Given the description of an element on the screen output the (x, y) to click on. 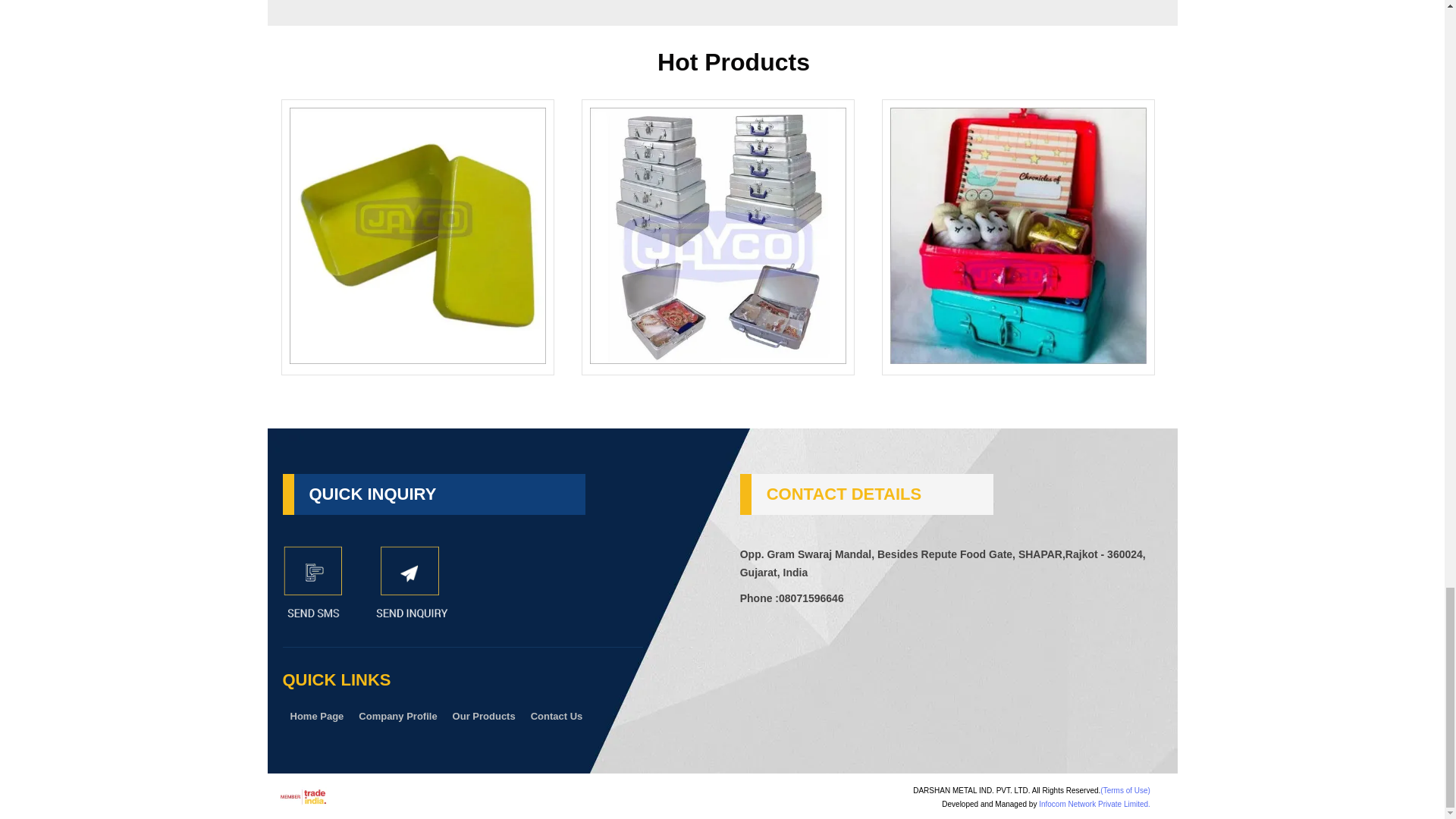
Jewelry Packing Box (717, 235)
Metal Gift Box (1018, 235)
Gift Tin (417, 235)
